Given the description of an element on the screen output the (x, y) to click on. 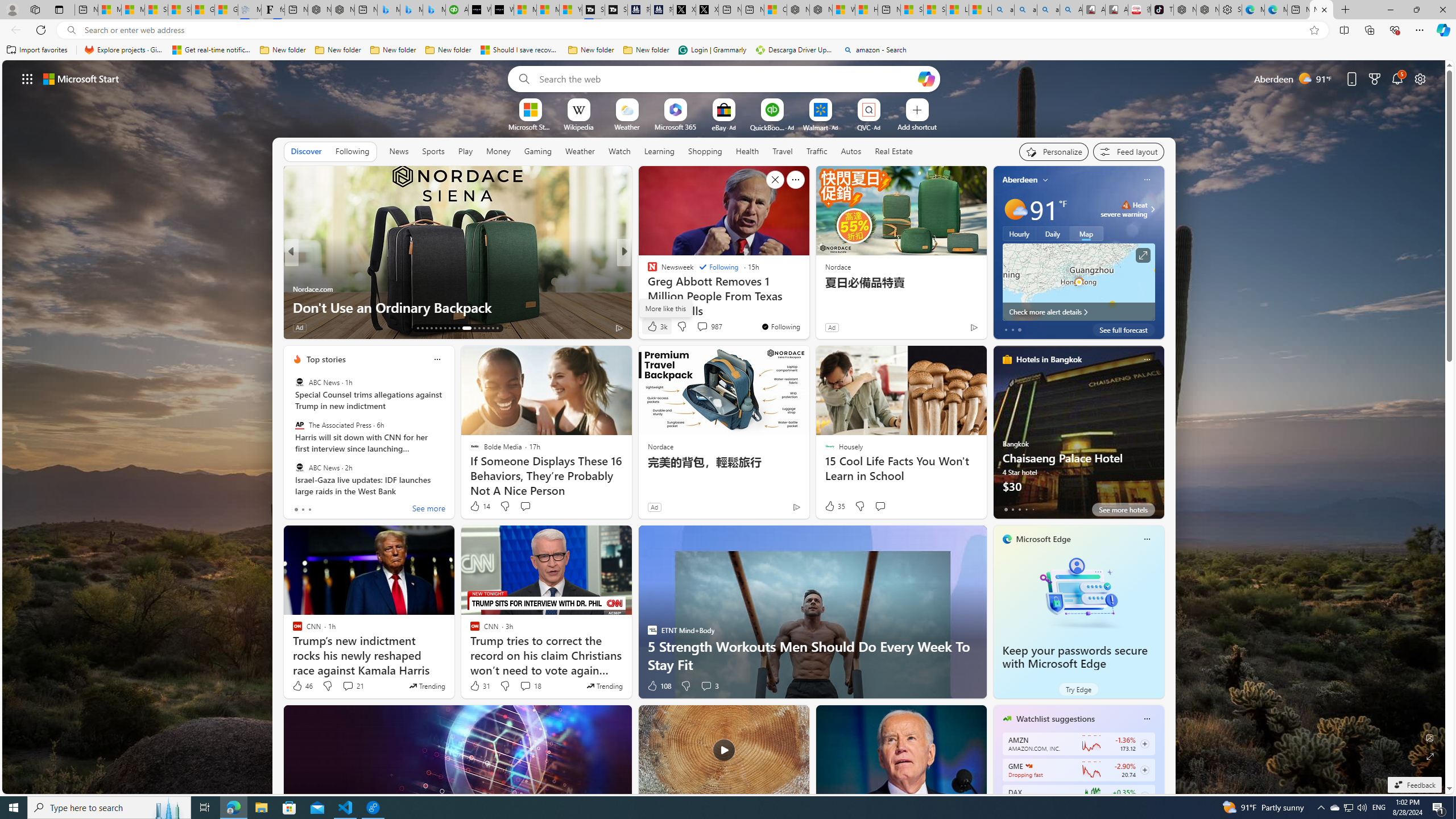
Ad Choice (796, 506)
hotels-header-icon (1006, 358)
Nordace - #1 Japanese Best-Seller - Siena Smart Backpack (342, 9)
AutomationID: tab-24 (472, 328)
Hourly (1018, 233)
More options (1146, 718)
Microsoft rewards (1374, 78)
Huge shark washes ashore at New York City beach | Watch (866, 9)
Top stories (325, 359)
Hide this story (774, 179)
Gaming (537, 151)
Shanghai, China weather forecast | Microsoft Weather (179, 9)
AutomationID: tab-17 (435, 328)
